Given the description of an element on the screen output the (x, y) to click on. 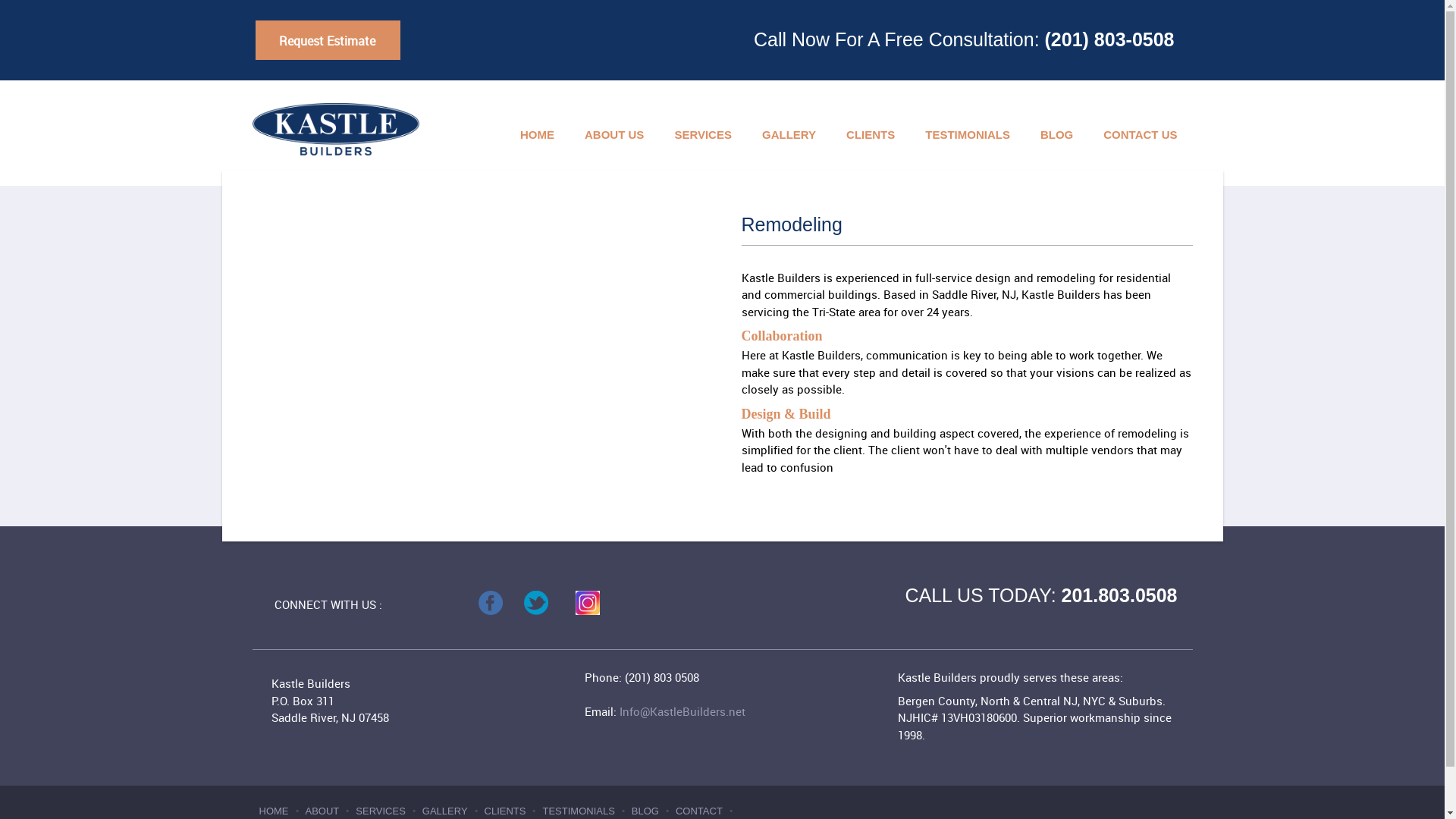
HOME (274, 811)
Testimonials (967, 136)
SERVICES (381, 811)
TESTIMONIALS (579, 811)
Contact Us (1139, 136)
BLOG (646, 811)
GALLERY (445, 811)
CONTACT (700, 811)
TESTIMONIALS (967, 136)
SERVICES (381, 811)
Services (702, 136)
GALLERY (788, 136)
Gallery (788, 136)
BLOG (1056, 136)
Home (537, 136)
